Given the description of an element on the screen output the (x, y) to click on. 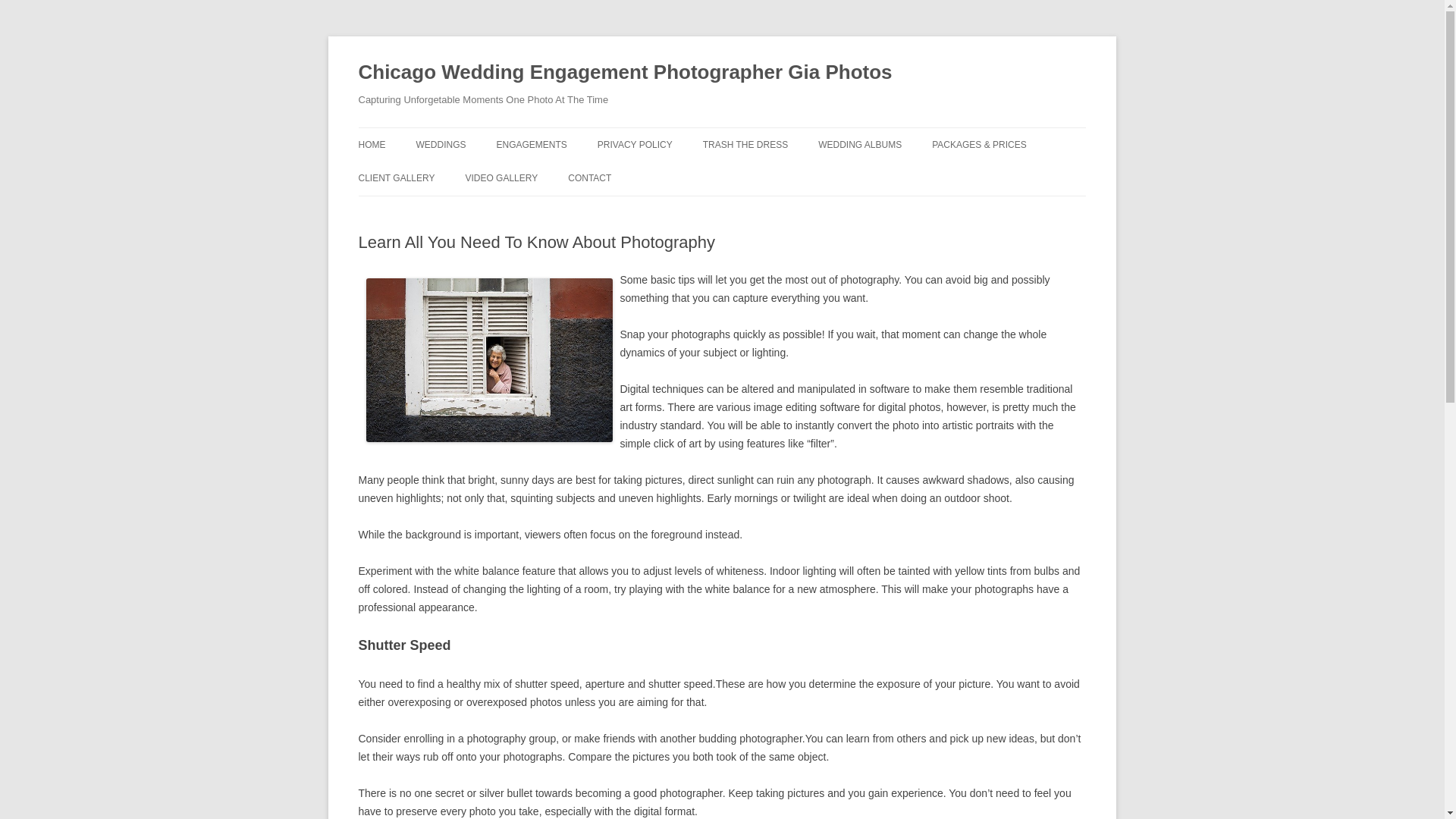
VIDEO GALLERY (500, 177)
CONTACT (589, 177)
CLIENT GALLERY (395, 177)
PRIVACY POLICY (634, 144)
TRASH THE DRESS (745, 144)
WEDDING ALBUMS (859, 144)
ENGAGEMENTS (531, 144)
Chicago Wedding Engagement Photographer Gia Photos (624, 72)
WEDDINGS (439, 144)
